Given the description of an element on the screen output the (x, y) to click on. 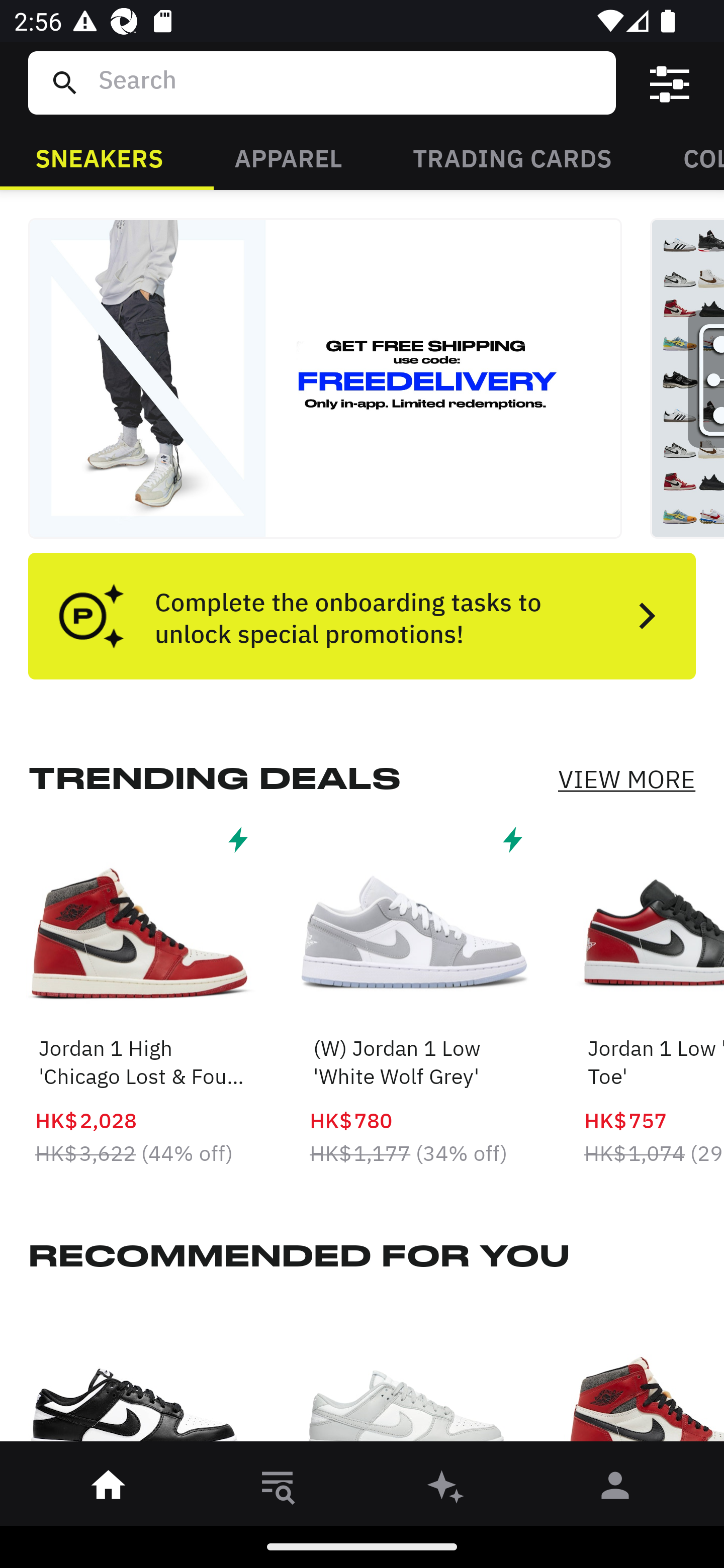
Search (349, 82)
 (669, 82)
SNEAKERS (99, 156)
APPAREL (287, 156)
TRADING CARDS (512, 156)
VIEW MORE (626, 779)
󰋜 (108, 1488)
󱎸 (277, 1488)
󰫢 (446, 1488)
󰀄 (615, 1488)
